Given the description of an element on the screen output the (x, y) to click on. 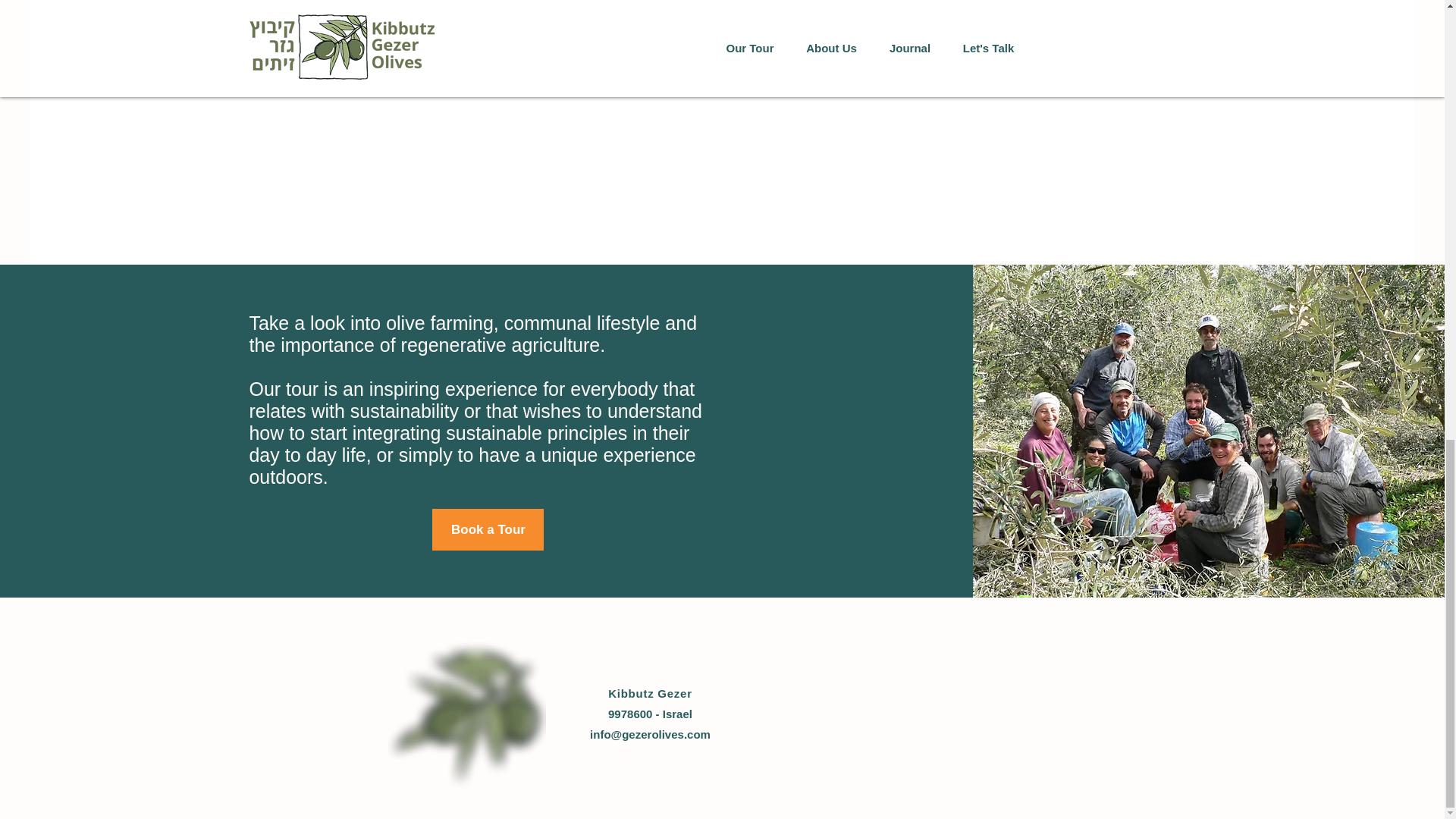
Book a Tour (487, 529)
Asset 2.png (467, 713)
